Given the description of an element on the screen output the (x, y) to click on. 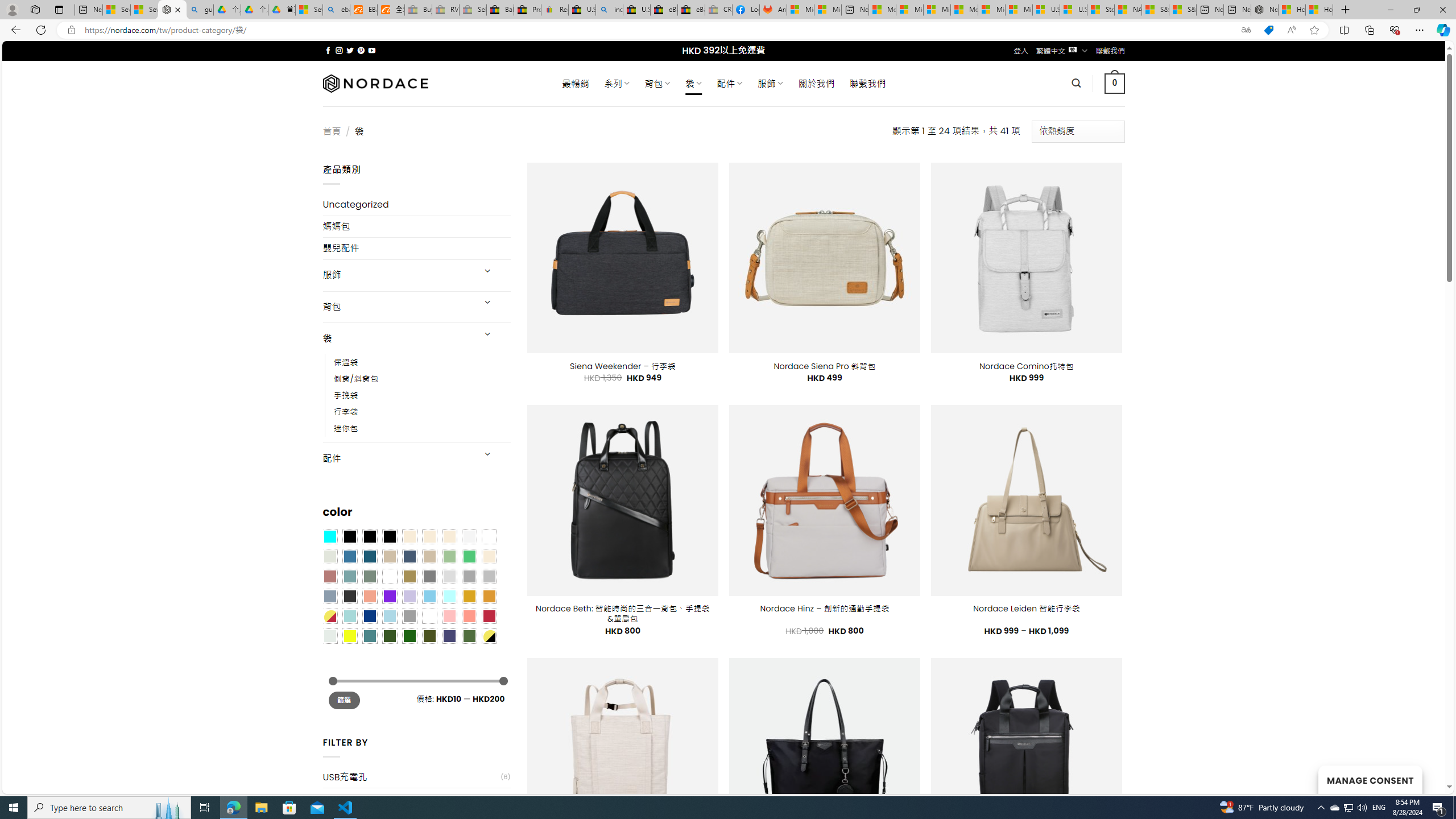
Sell worldwide with eBay - Sleeping (473, 9)
Dull Nickle (329, 635)
